Given the description of an element on the screen output the (x, y) to click on. 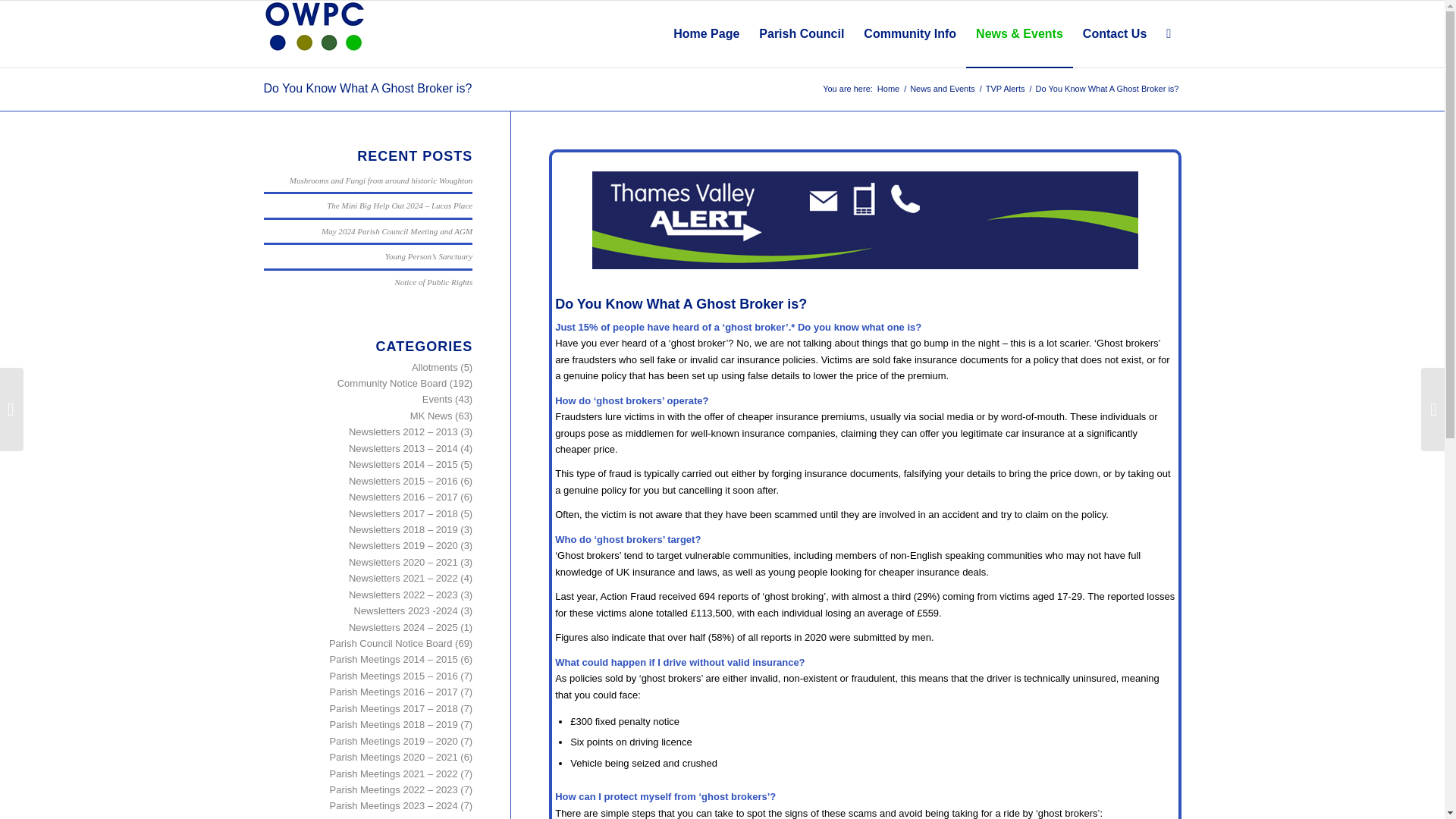
Parish Council (801, 33)
News and Events (941, 89)
Old Woughton Parish Council (888, 89)
Community Info (909, 33)
Do You Know What A Ghost Broker is? (367, 88)
Home Page (706, 33)
Permanent Link: Do You Know What A Ghost Broker is? (367, 88)
Contact Us (1114, 33)
Mushrooms and Fungi from around historic Woughton (380, 180)
TVP Alerts (1005, 89)
News and Events (941, 89)
Home (888, 89)
